Given the description of an element on the screen output the (x, y) to click on. 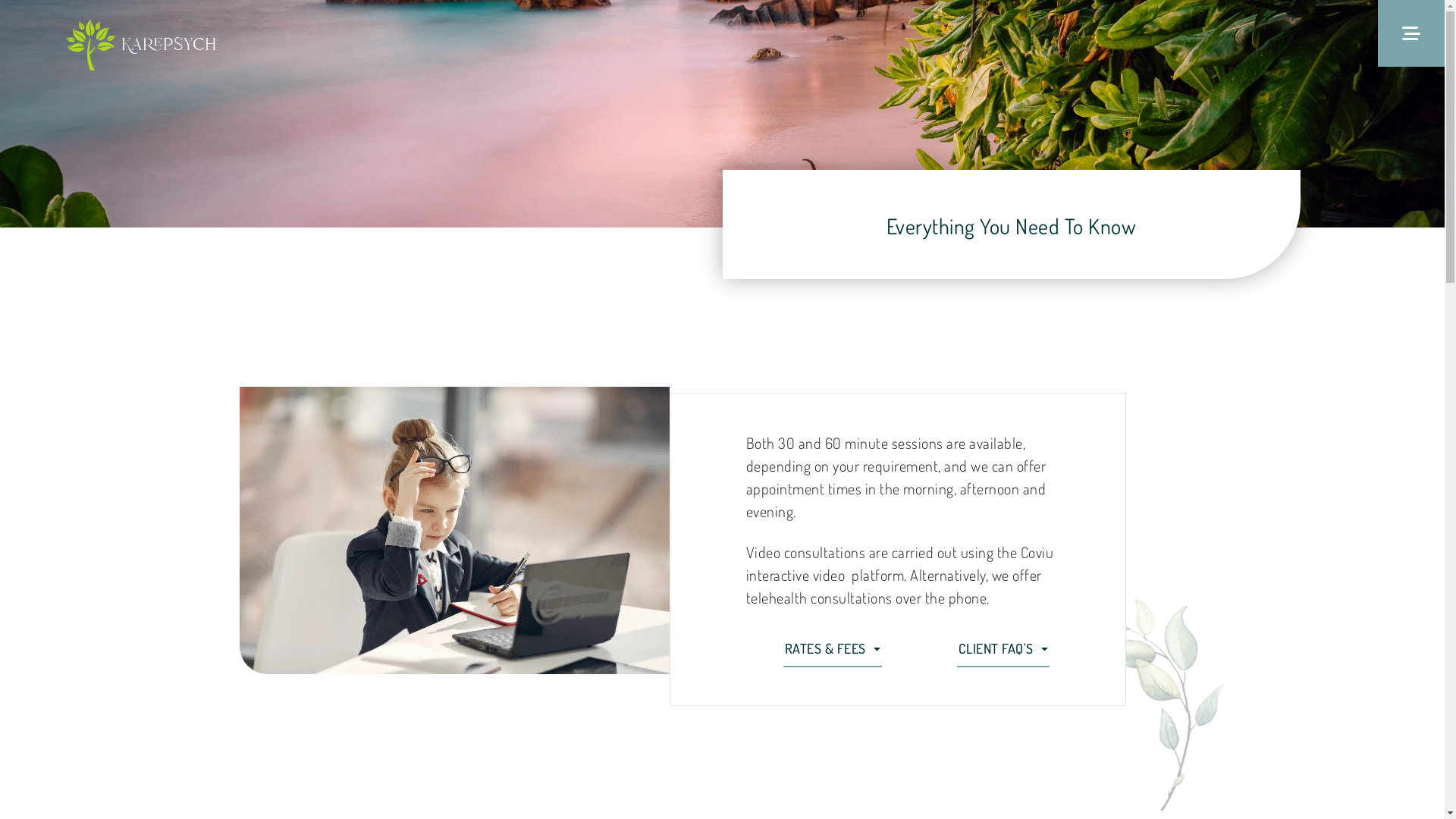
CLIENT FAQ'S Element type: text (1003, 649)
Coviu Element type: text (1037, 551)
RATES & FEES Element type: text (832, 649)
Karepsych Element type: text (168, 45)
